Given the description of an element on the screen output the (x, y) to click on. 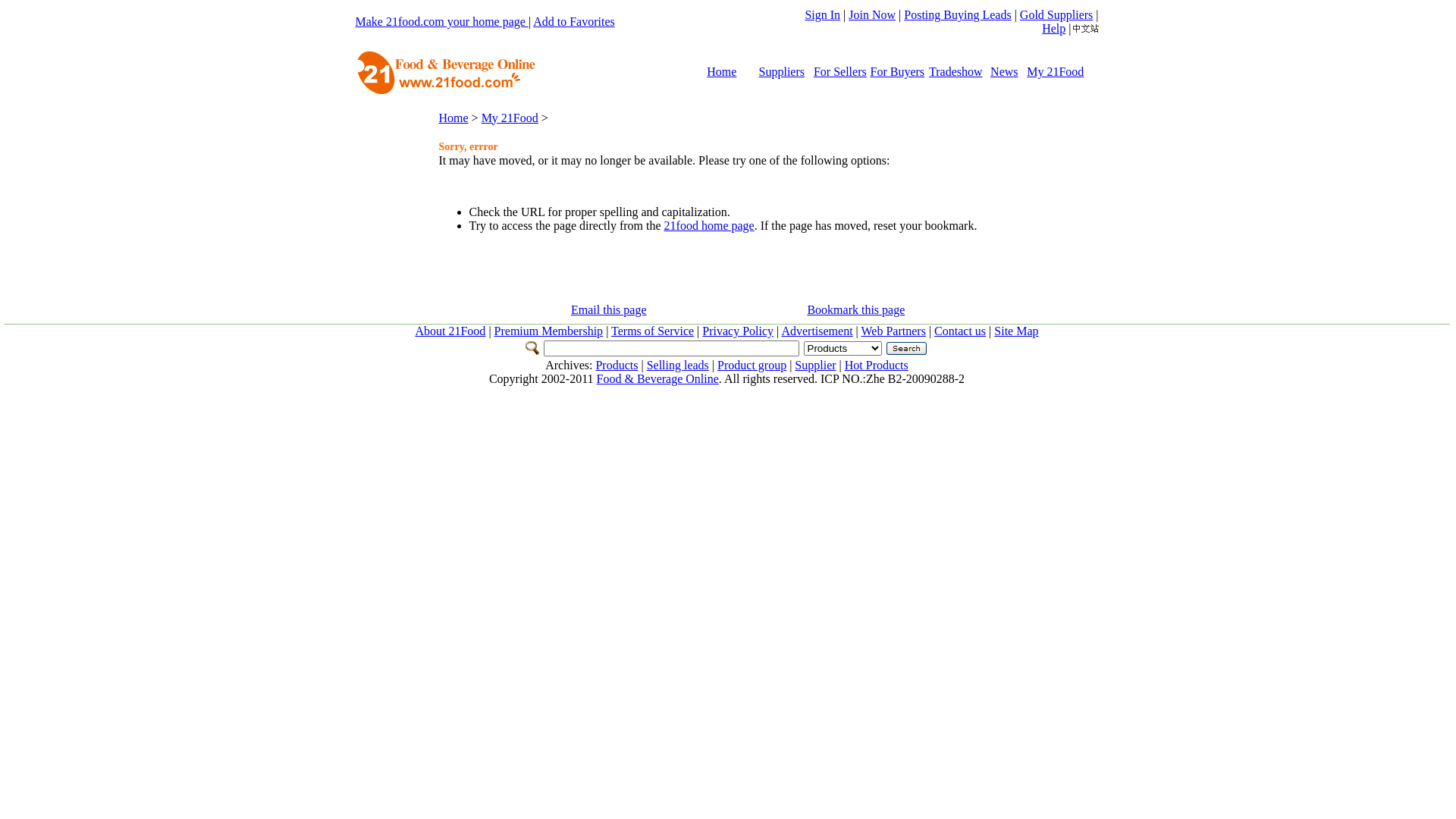
21food home page Element type: text (709, 225)
Make 21food.com your home page Element type: text (440, 21)
Products Element type: text (616, 364)
Posting Buying Leads Element type: text (956, 14)
Email this page Element type: text (608, 309)
Tradeshow Element type: text (955, 71)
Add to Favorites Element type: text (574, 21)
Contact us Element type: text (959, 330)
My 21Food Element type: text (509, 116)
My 21Food Element type: text (1054, 71)
Suppliers Element type: text (781, 71)
For Sellers Element type: text (839, 71)
Site Map Element type: text (1016, 330)
Food & Beverage Online Element type: text (657, 378)
Supplier Element type: text (814, 364)
Gold Suppliers Element type: text (1055, 14)
Join Now Element type: text (871, 14)
Help Element type: text (1053, 27)
Premium Membership Element type: text (548, 330)
Sign In Element type: text (822, 14)
Home Element type: text (452, 116)
Selling leads Element type: text (677, 364)
Privacy Policy Element type: text (737, 330)
About 21Food Element type: text (449, 330)
Home Element type: text (721, 71)
Product group Element type: text (751, 364)
Advertisement Element type: text (816, 330)
Bookmark this page Element type: text (855, 309)
For Buyers Element type: text (897, 71)
Terms of Service Element type: text (652, 330)
Hot Products Element type: text (876, 364)
News Element type: text (1003, 71)
Web Partners Element type: text (893, 330)
